Given the description of an element on the screen output the (x, y) to click on. 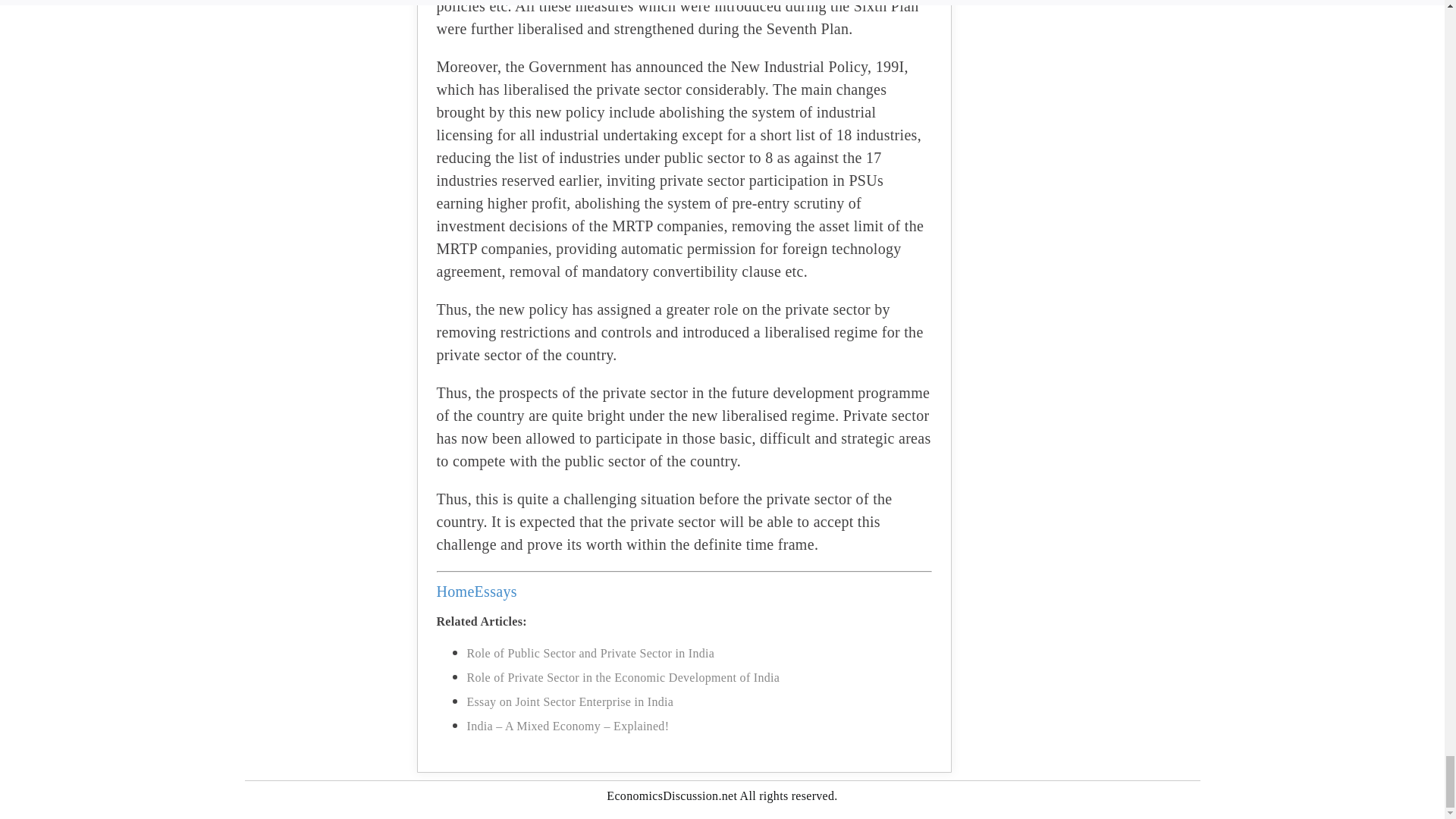
Role of Public Sector and Private Sector in India (590, 653)
Essays (495, 591)
Essay on Joint Sector Enterprise in India (570, 701)
Role of Private Sector in the Economic Development of India (623, 676)
Home (455, 591)
Role of Public Sector and Private Sector in India (590, 653)
Essay on Joint Sector Enterprise in India (570, 701)
Role of Private Sector in the Economic Development of India (623, 676)
